Given the description of an element on the screen output the (x, y) to click on. 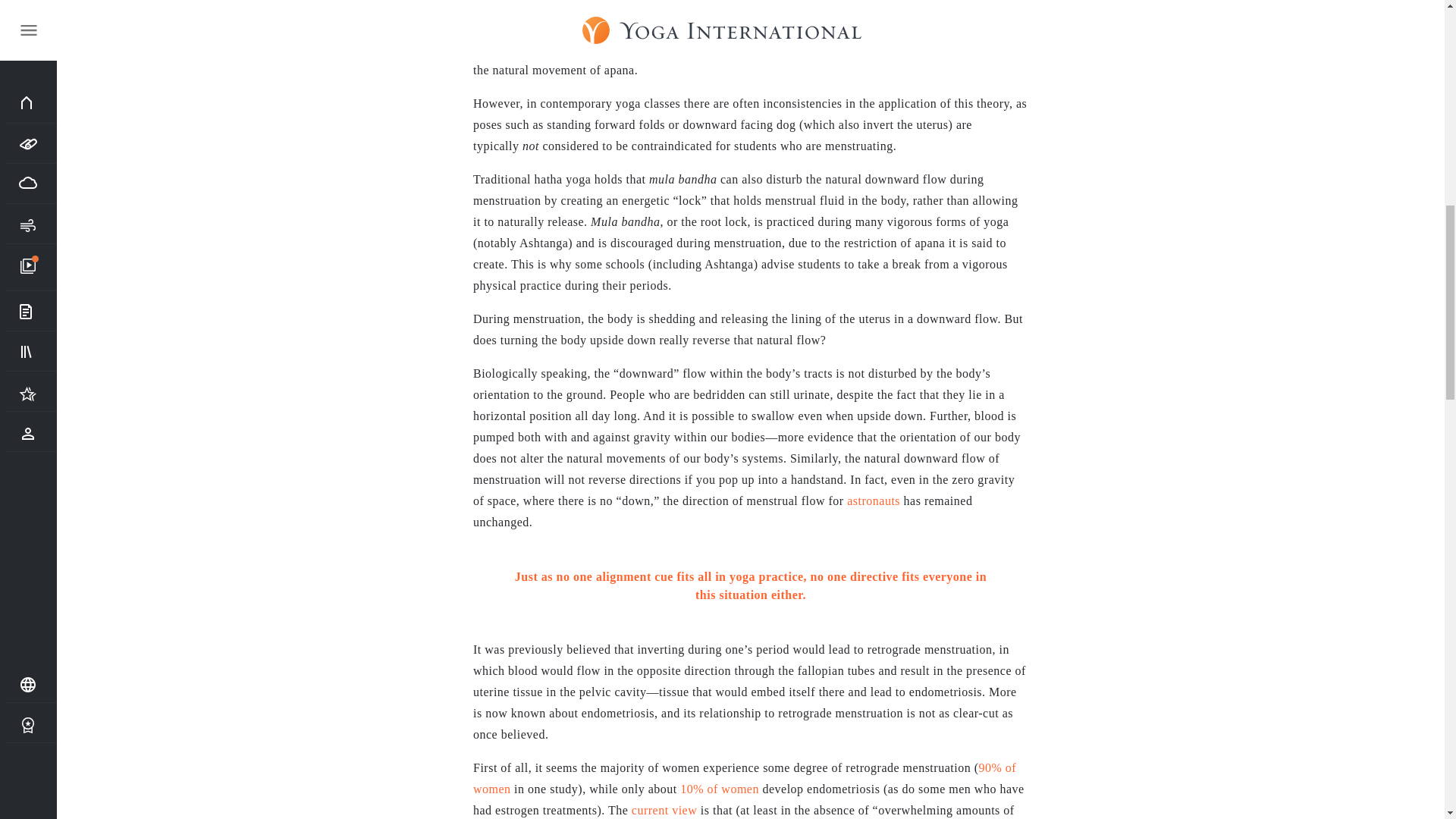
astronauts (873, 500)
current view (664, 809)
